Given the description of an element on the screen output the (x, y) to click on. 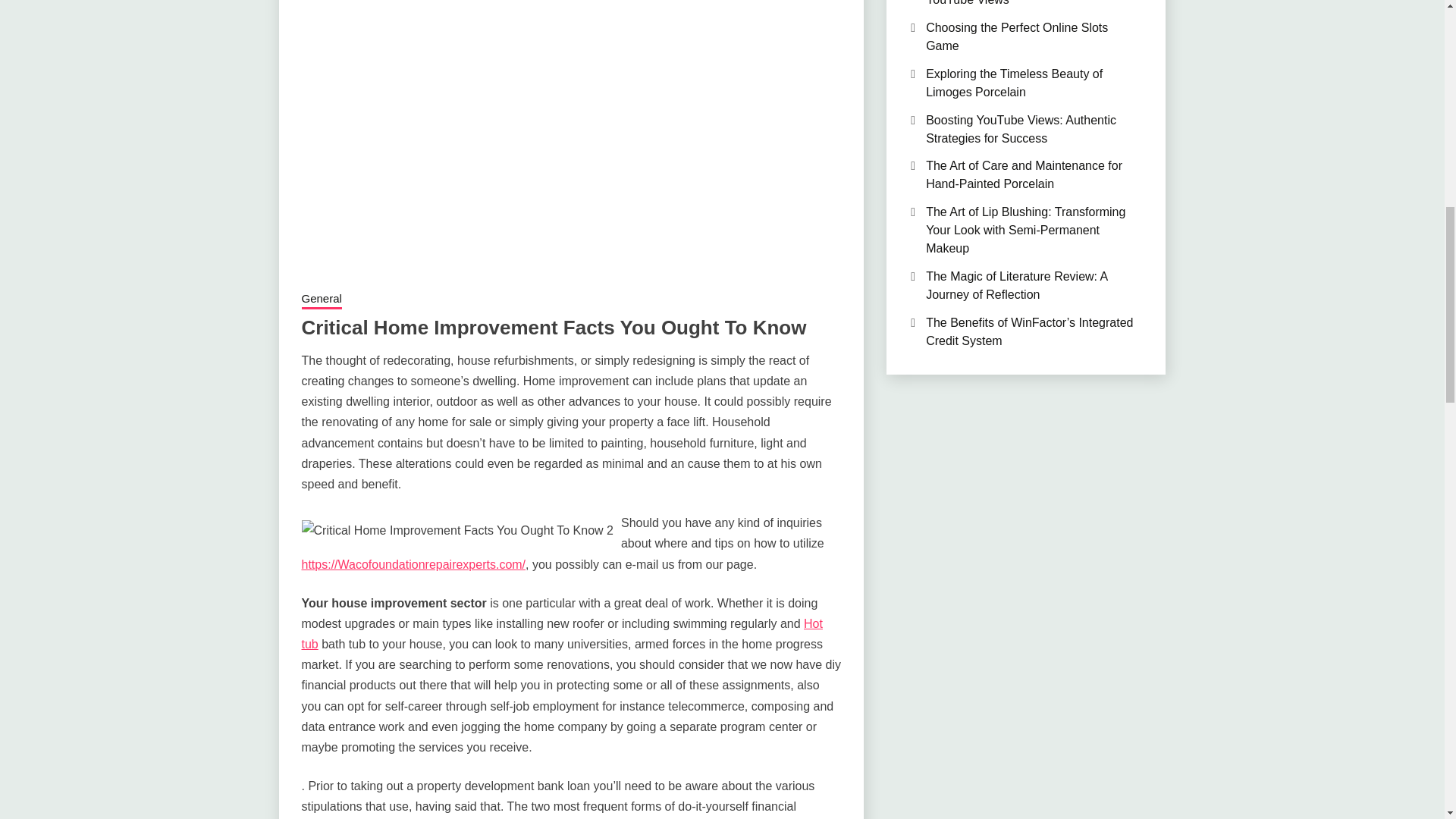
Hot tub (561, 633)
General (321, 300)
